Given the description of an element on the screen output the (x, y) to click on. 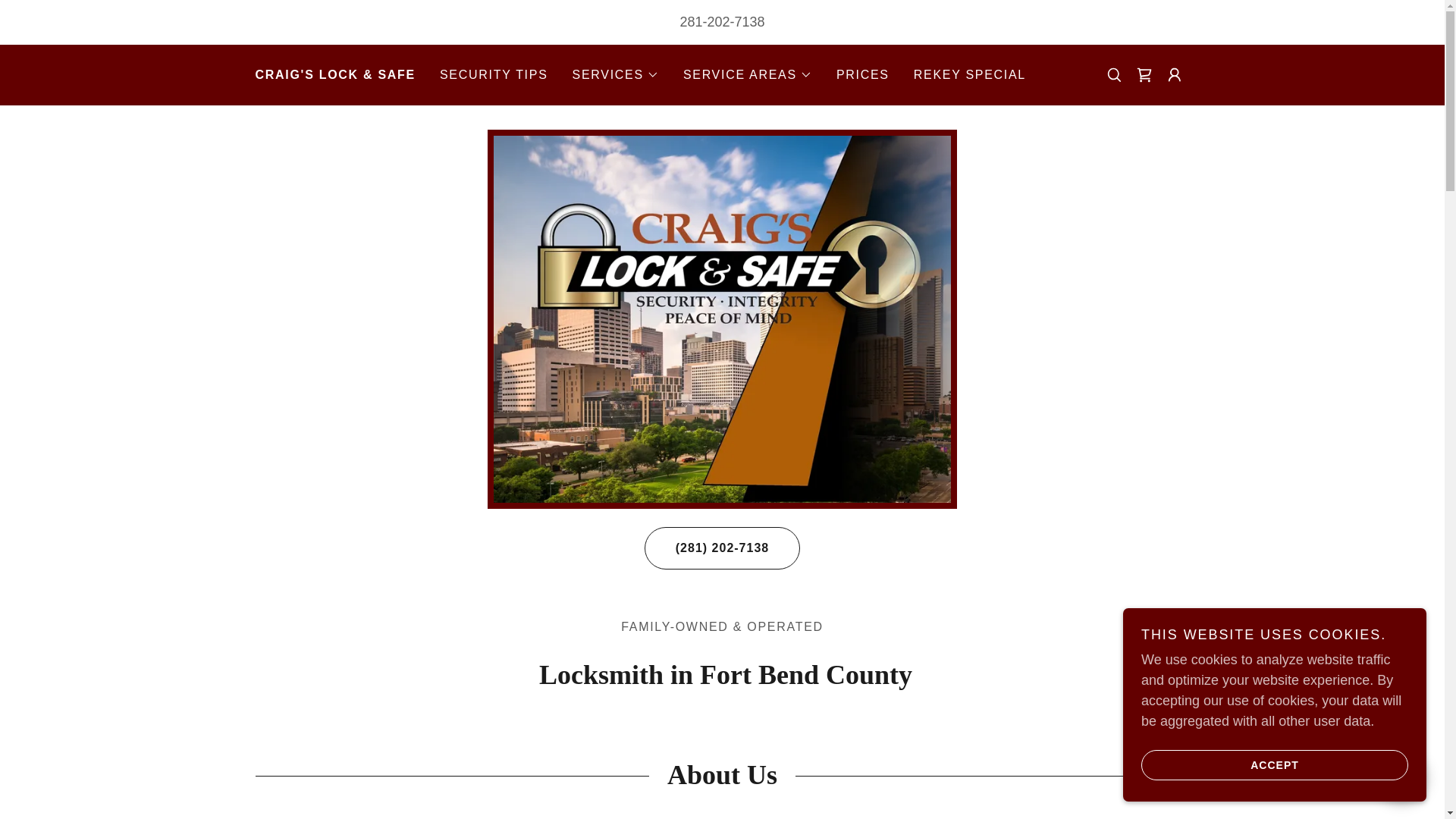
SERVICE AREAS (747, 75)
281-202-7138 (721, 21)
SECURITY TIPS (494, 74)
PRICES (862, 74)
REKEY SPECIAL (969, 74)
SERVICES (615, 75)
